Given the description of an element on the screen output the (x, y) to click on. 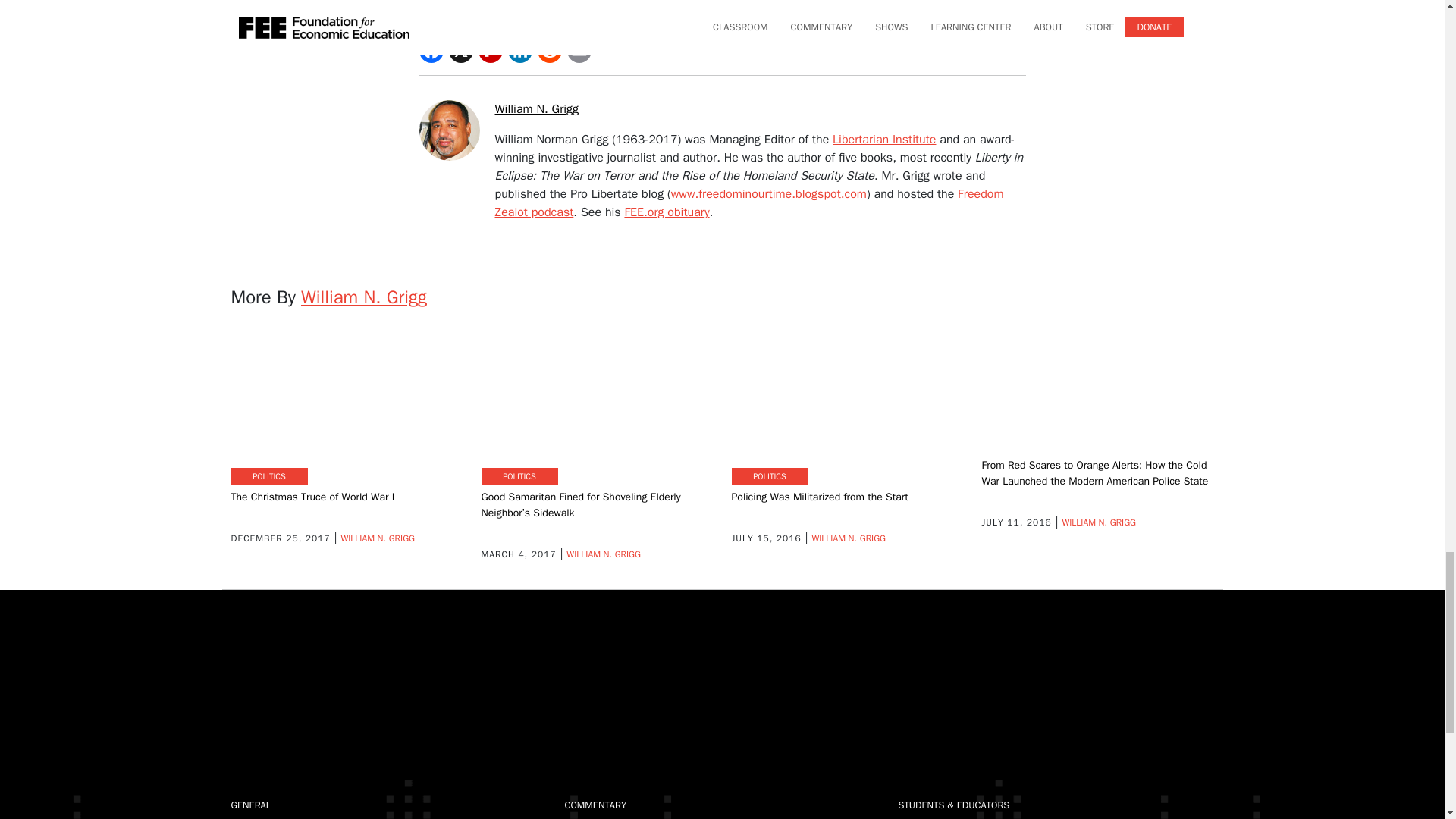
LinkedIn (520, 50)
William N. Grigg (457, 129)
Flipboard (489, 50)
Twitter (460, 50)
William N. Grigg (536, 109)
Reddit (548, 50)
Facebook (430, 50)
Email (579, 50)
